Given the description of an element on the screen output the (x, y) to click on. 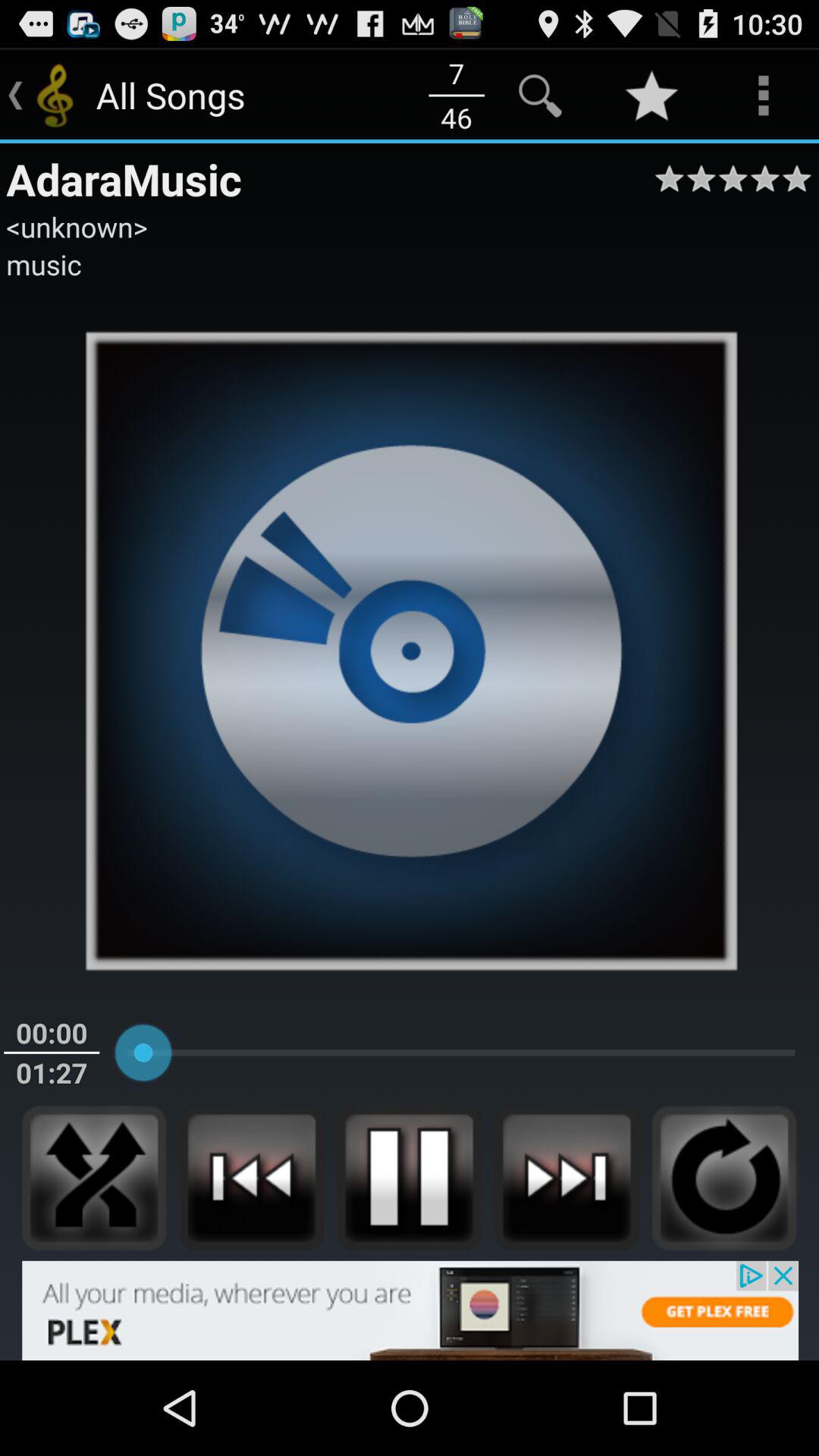
pause option (408, 1177)
